Given the description of an element on the screen output the (x, y) to click on. 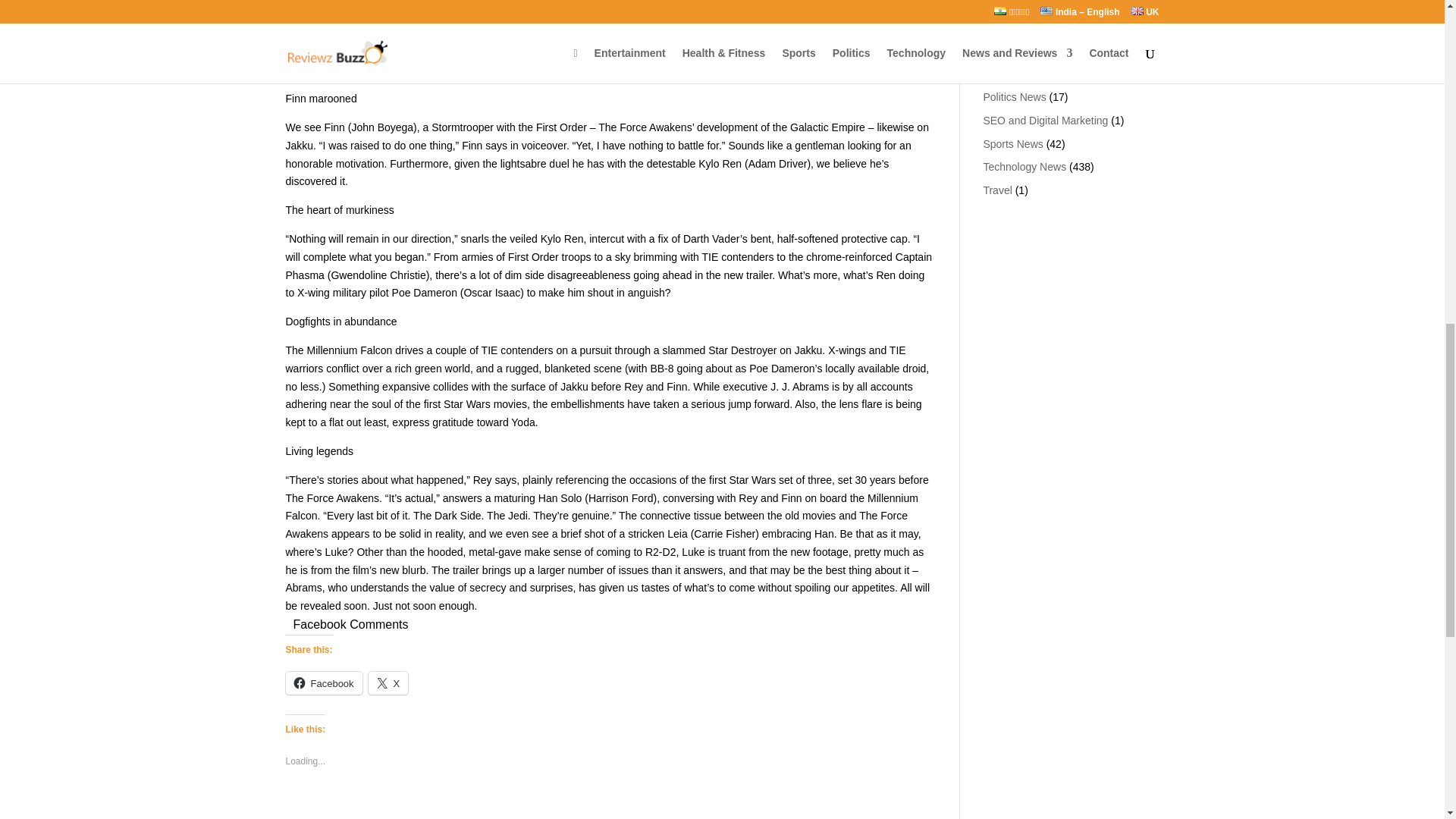
SEO and Digital Marketing (1045, 120)
Click to share on Facebook (323, 682)
Environment (1012, 27)
X (388, 682)
Sports News (1012, 143)
Technology News (1023, 166)
Facebook (323, 682)
Click to share on X (388, 682)
Entertainment (1015, 4)
Travel (996, 190)
Politics News (1013, 96)
News and Reviews (1027, 73)
Featured (1003, 50)
